Given the description of an element on the screen output the (x, y) to click on. 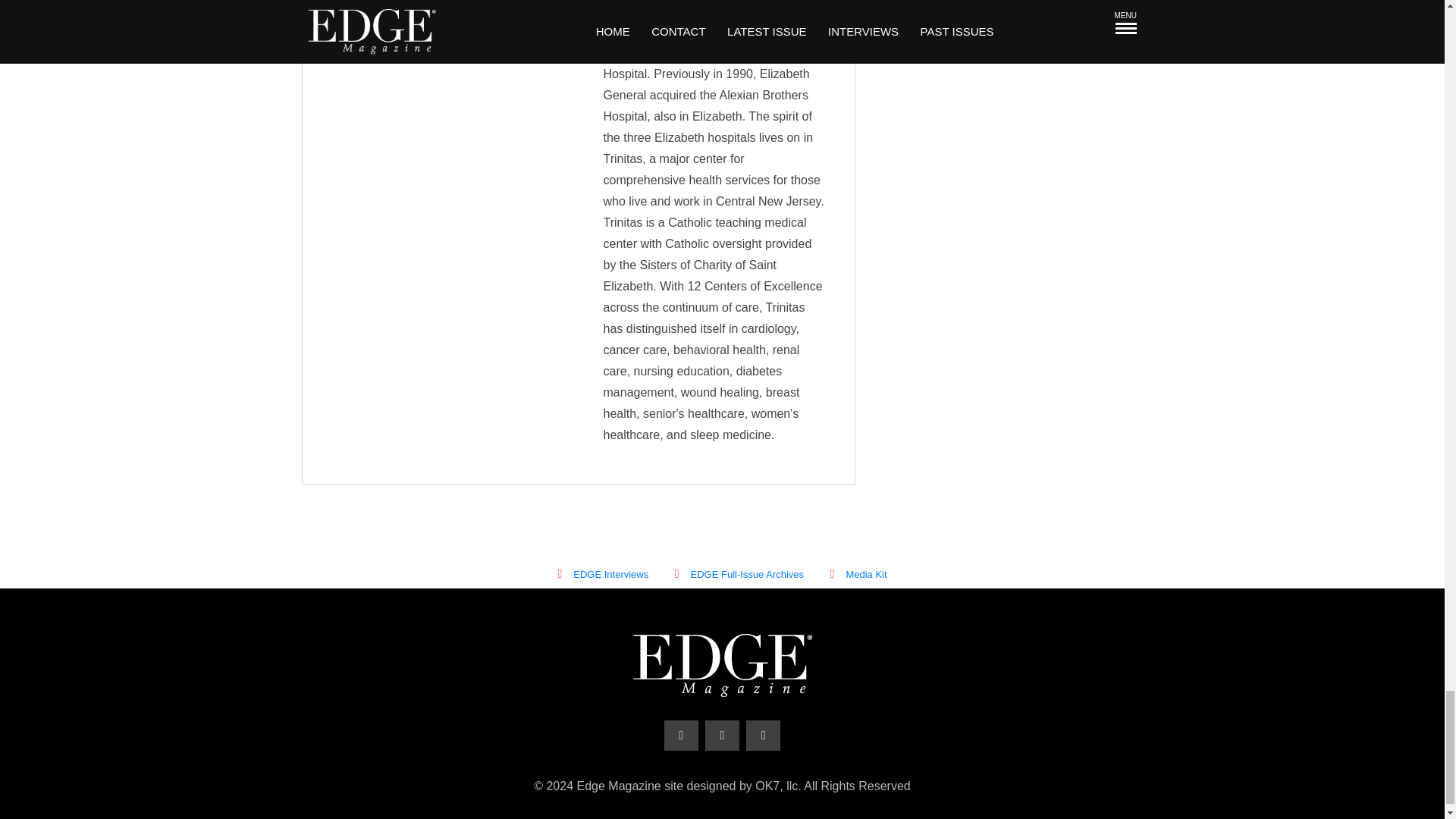
EDGE Interviews (602, 573)
instagram (762, 735)
facebook (680, 735)
twitter (721, 735)
Media Kit (857, 573)
EDGE Full-Issue Archives (739, 573)
